Given the description of an element on the screen output the (x, y) to click on. 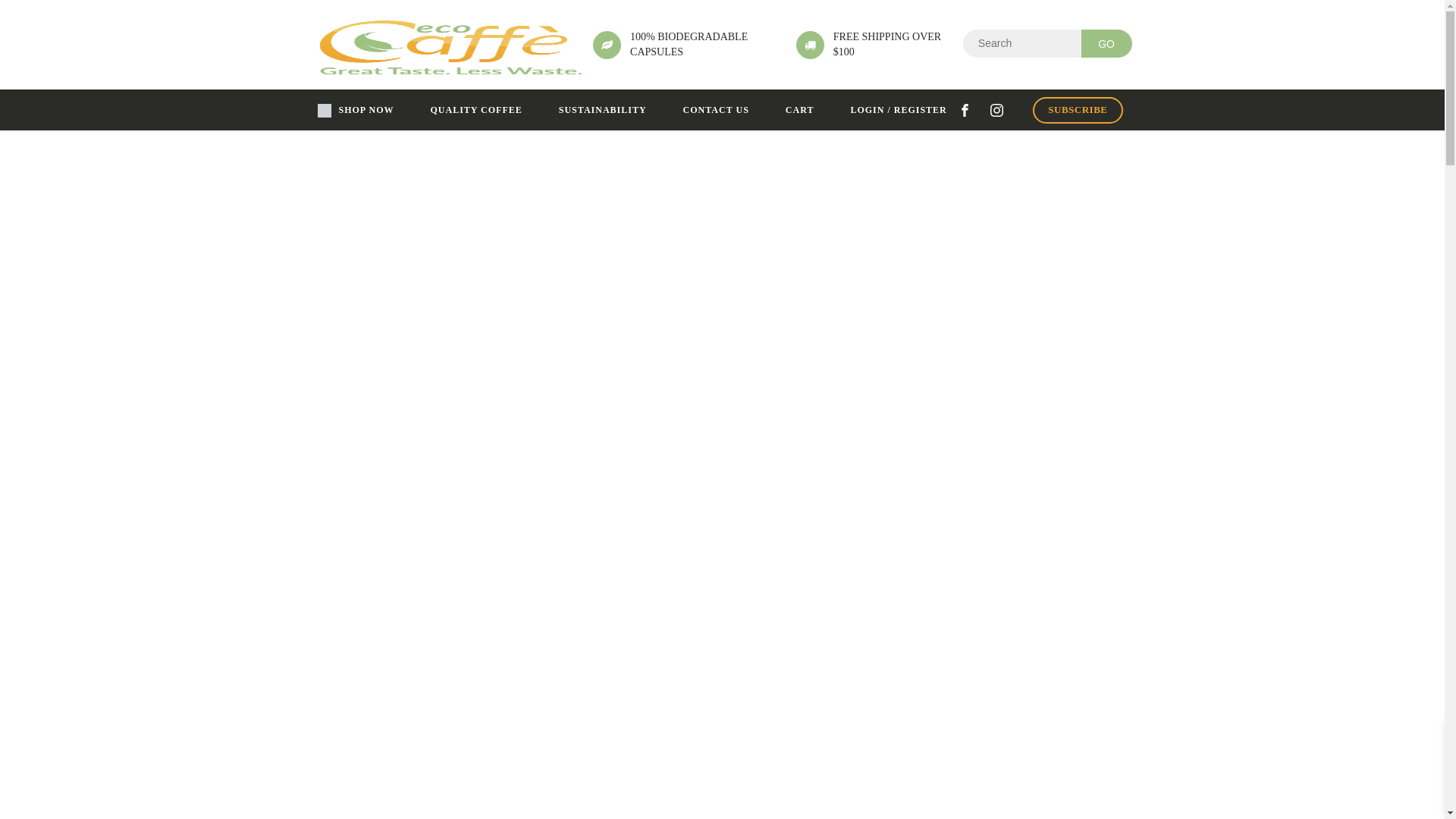
SUBSCRIBE Element type: text (1077, 110)
CART Element type: text (799, 110)
QUALITY COFFEE Element type: text (476, 110)
CONTACT US Element type: text (716, 110)
LOGIN / REGISTER Element type: text (897, 110)
SHOP NOW Element type: text (354, 110)
SUSTAINABILITY Element type: text (602, 110)
GO Element type: text (1106, 43)
